Given the description of an element on the screen output the (x, y) to click on. 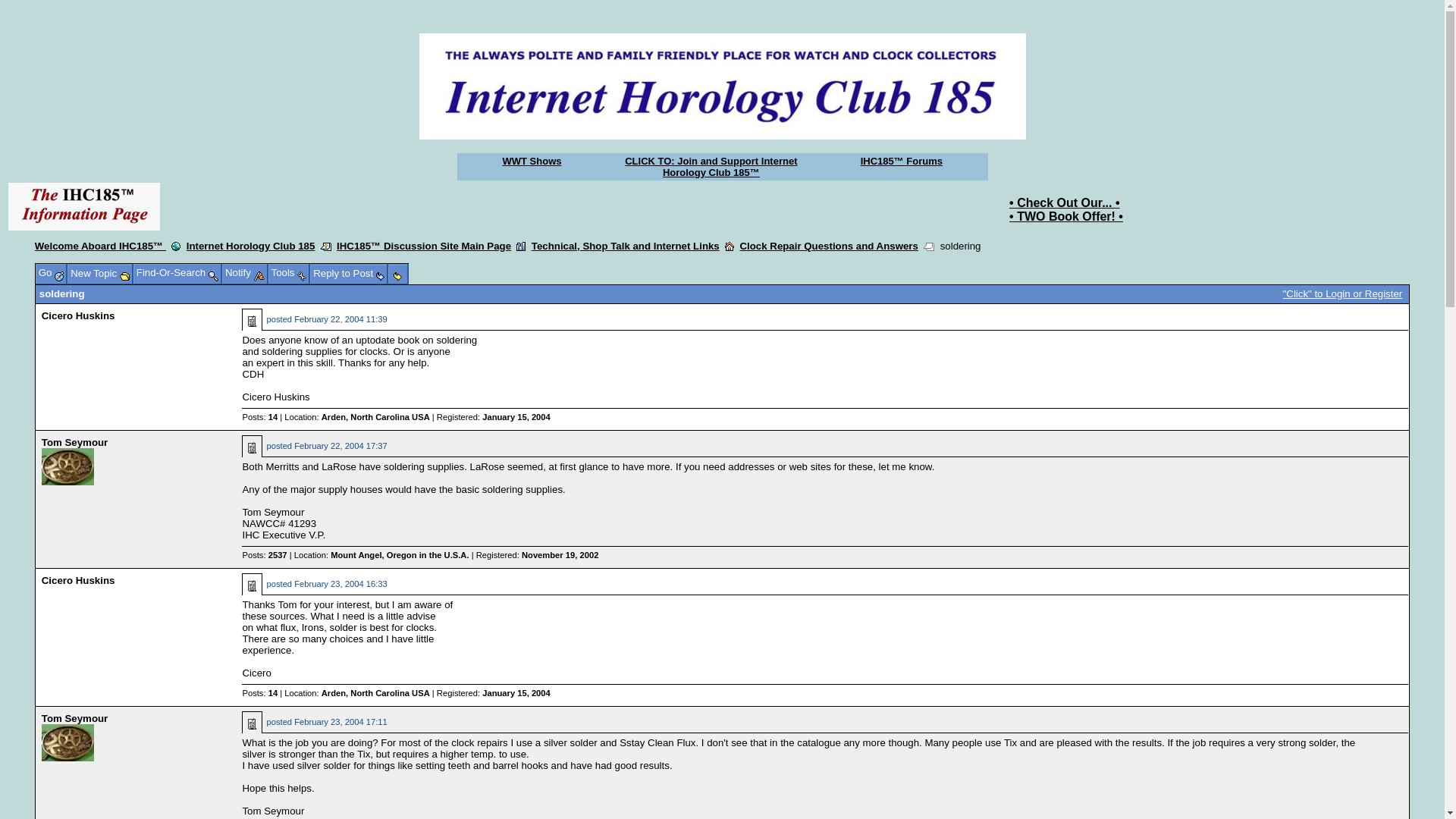
New Topic Element type: text (100, 273)
Go
New Topic
Find-Or-Search
Notify
Tools
Reply to Post
   Element type: text (221, 273)
Go Element type: text (51, 273)
 X  Element type: text (411, 24)
Posts: 14 Element type: text (259, 416)
GO Element type: text (308, 173)
Picture of Tom Seymour Element type: hover (67, 465)
 X  Element type: text (477, 85)
Post Now Element type: text (395, 206)
"Click" to Login or Register Element type: text (1342, 293)
WWT Shows Element type: text (531, 160)
Hop To Forums Element type: hover (729, 246)
Technical, Shop Talk and Internet Links Element type: text (625, 245)
Find-Or-Search Element type: text (177, 273)
Internet Horology Club 185 Element type: text (250, 245)
Reply to Post Element type: text (349, 273)
Notify Element type: text (245, 273)
Tom Seymour Element type: text (74, 718)
   Element type: text (398, 273)
Tom Seymour Element type: text (74, 442)
Cicero Huskins Element type: text (78, 580)
Hop To Forum Categories Element type: hover (520, 246)
Posts: 14 Element type: text (259, 692)
Tools Element type: text (289, 273)
Posts: 2537 Element type: text (263, 554)
Cicero Huskins Element type: text (78, 314)
Picture of Tom Seymour Element type: hover (67, 741)
Clock Repair Questions and Answers Element type: text (829, 245)
